Given the description of an element on the screen output the (x, y) to click on. 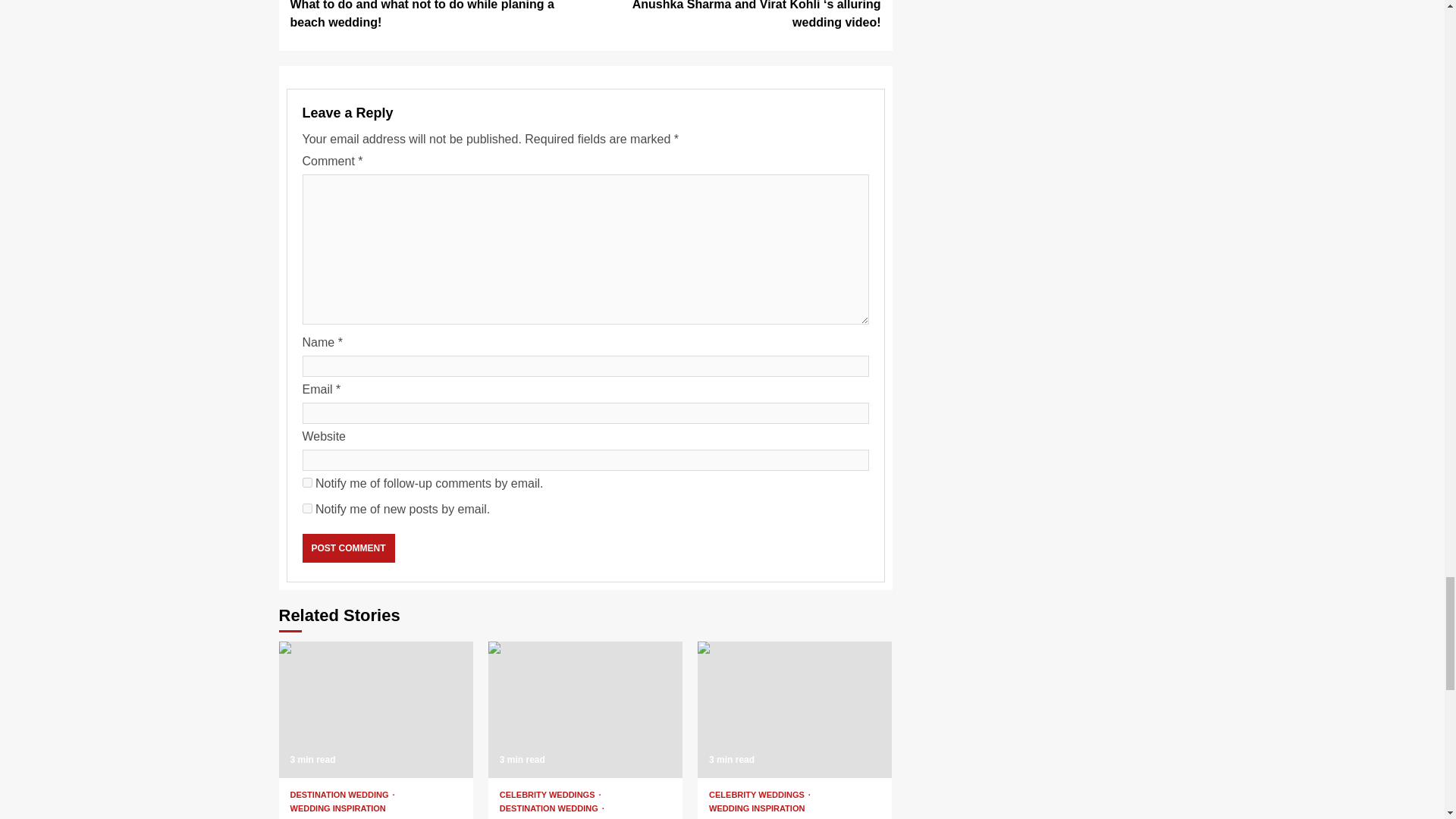
subscribe (306, 482)
Post Comment (347, 547)
subscribe (306, 508)
